Given the description of an element on the screen output the (x, y) to click on. 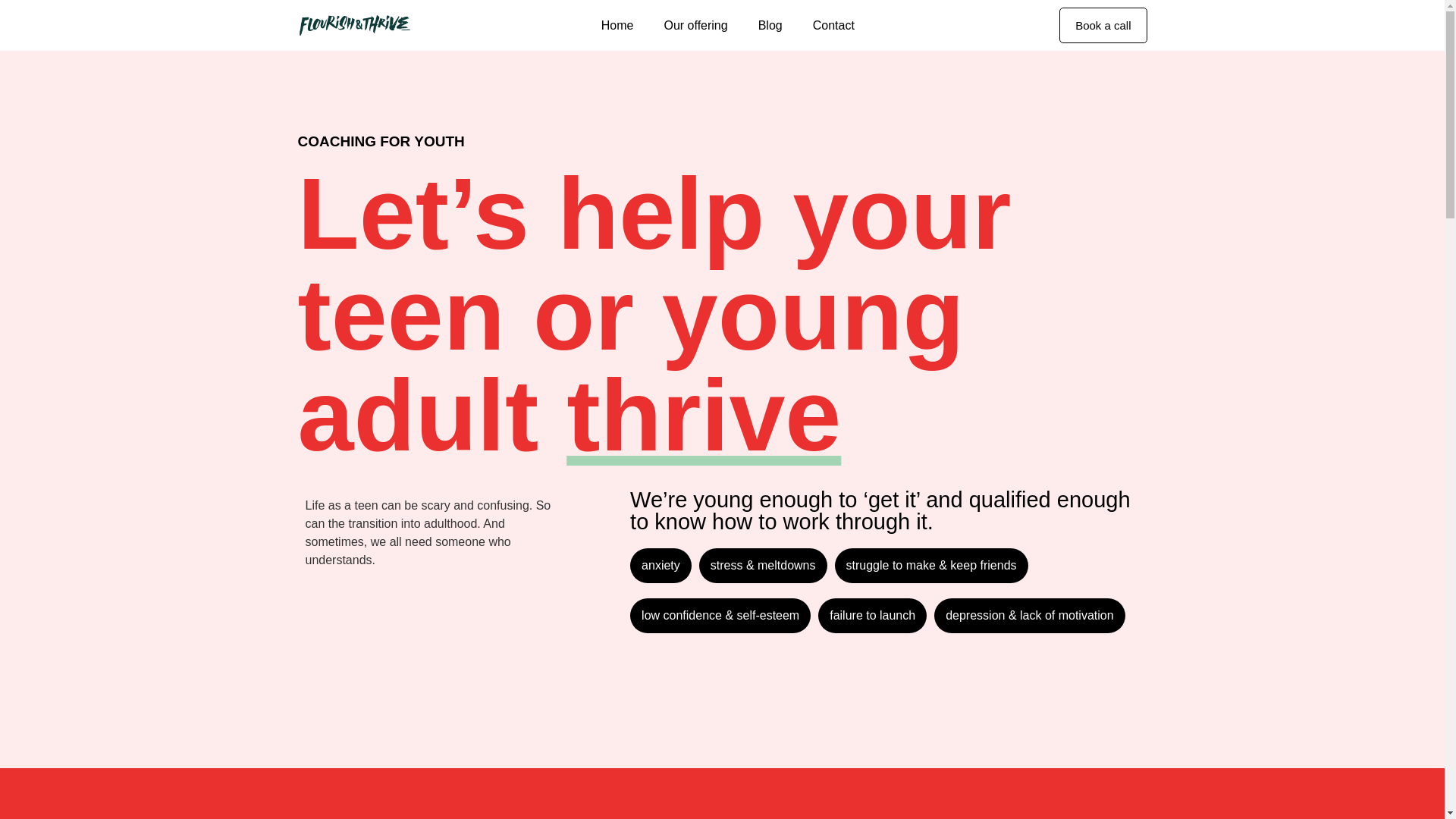
Home (617, 24)
Book a call (1103, 25)
Our offering (694, 24)
Contact (833, 24)
